Given the description of an element on the screen output the (x, y) to click on. 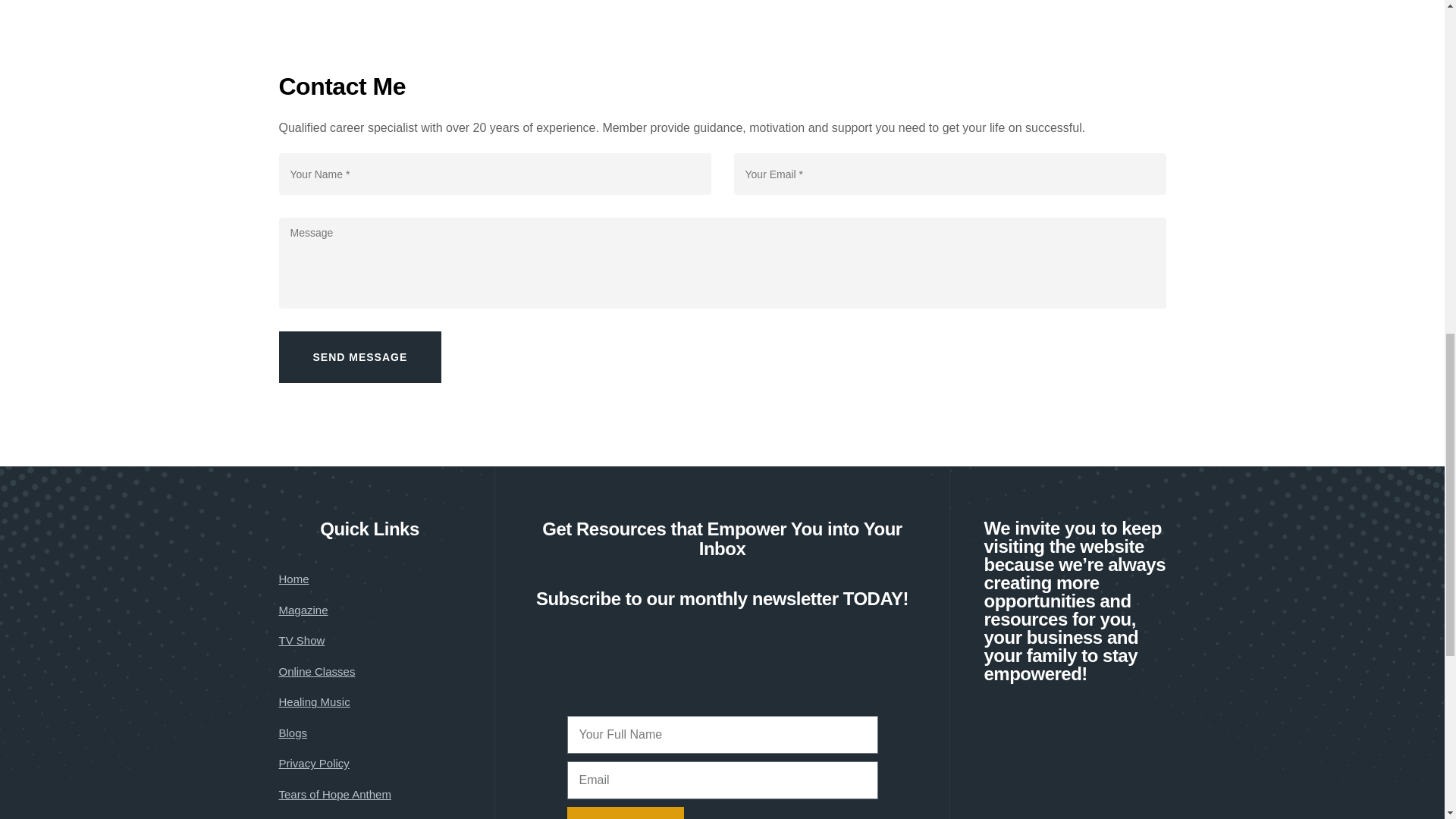
TV Show (301, 640)
Healing Music (314, 701)
SEND MESSAGE (360, 357)
Blogs (293, 732)
Privacy Policy (314, 763)
Online Classes (317, 671)
Magazine (304, 609)
Home (293, 578)
